Given the description of an element on the screen output the (x, y) to click on. 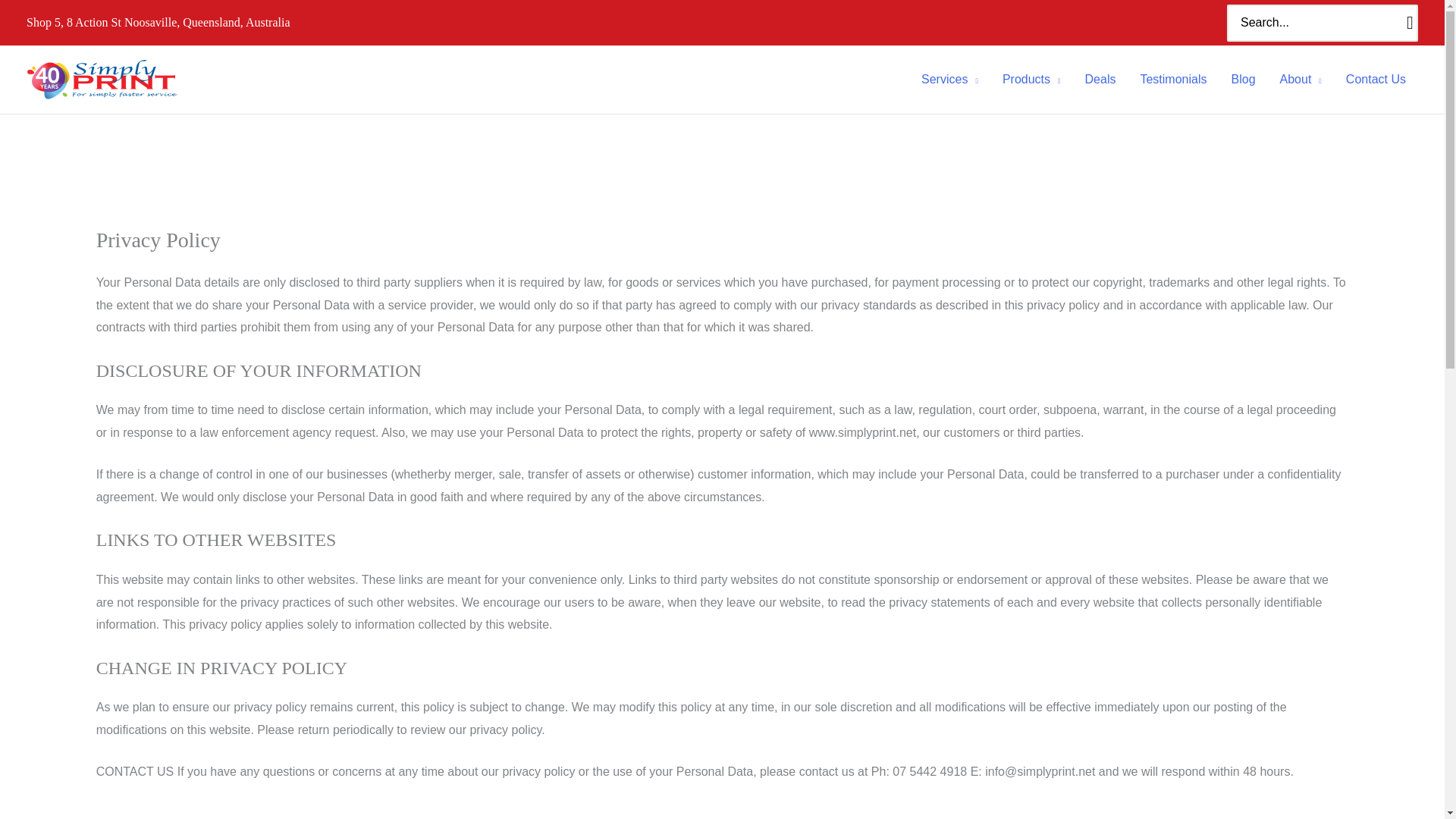
Shop 5, 8 Action St Noosaville, Queensland, Australia (157, 21)
Products (1031, 79)
Contact Us (1375, 79)
Blog (1244, 79)
About (1300, 79)
Testimonials (1172, 79)
Deals (1100, 79)
Services (949, 79)
Search (1409, 22)
